Given the description of an element on the screen output the (x, y) to click on. 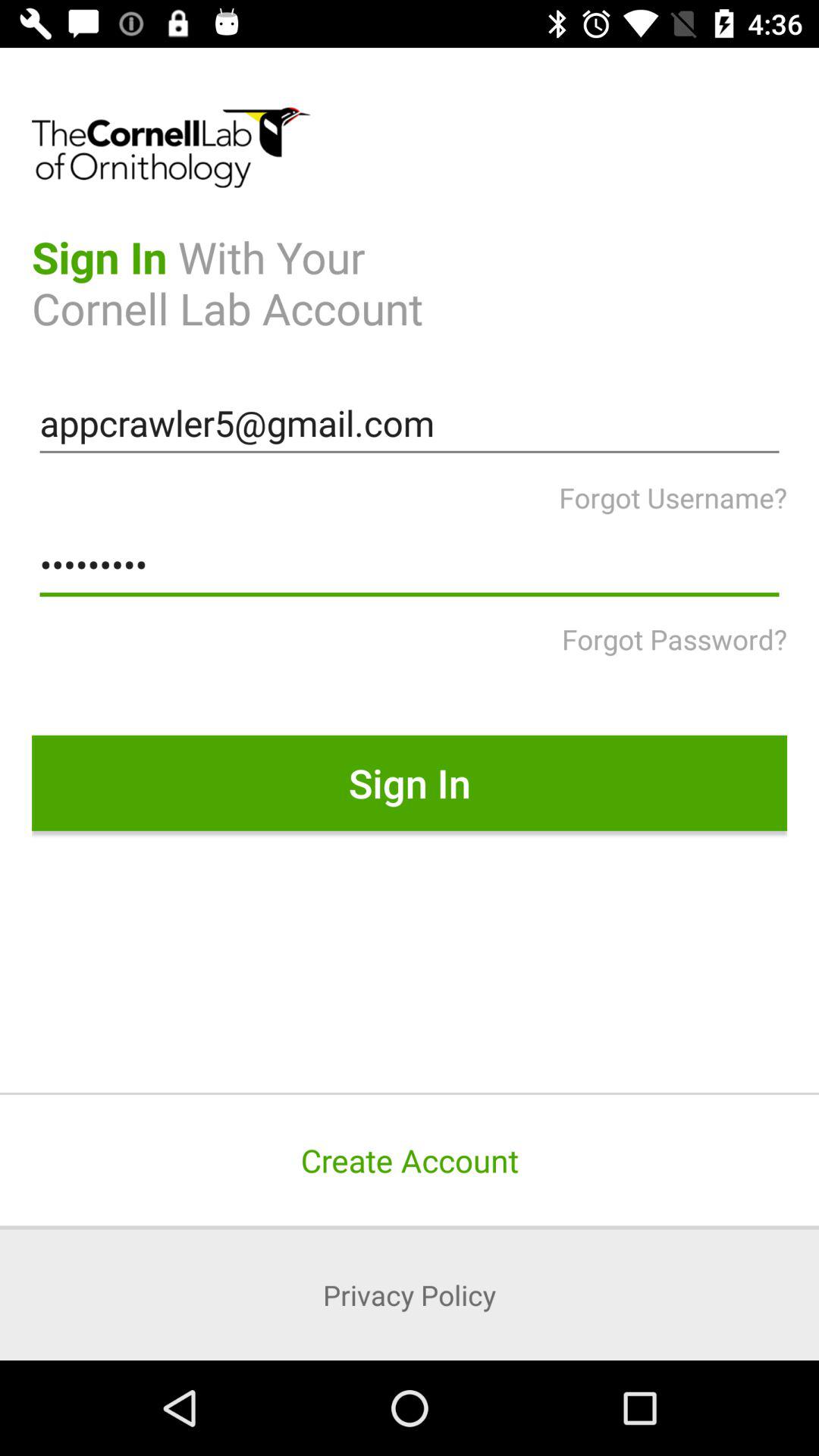
swipe until create account (409, 1159)
